Given the description of an element on the screen output the (x, y) to click on. 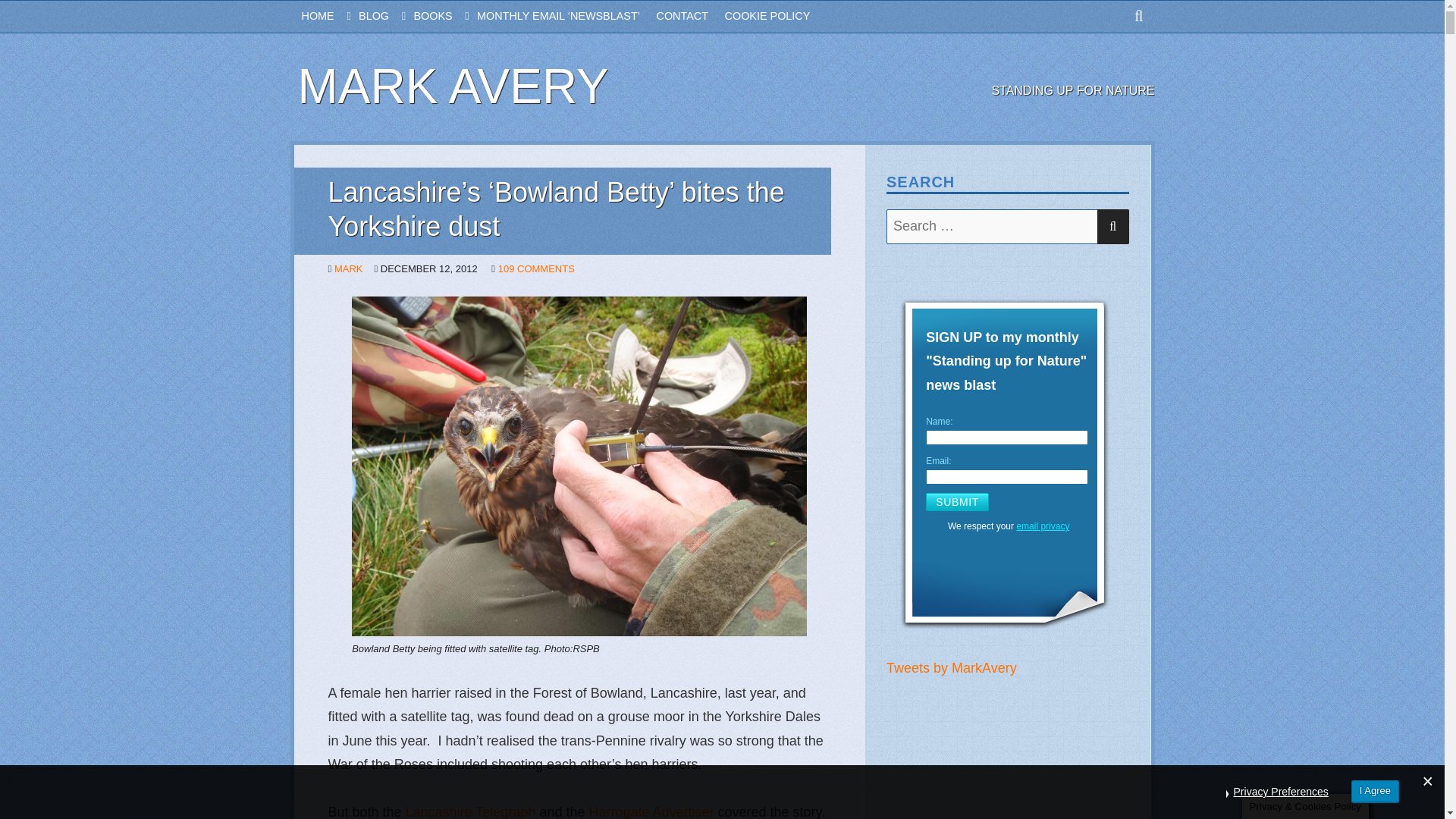
COOKIE POLICY (776, 16)
Privacy Policy (1042, 525)
Submit (957, 502)
CONTACT (689, 16)
HOME (330, 16)
BOOKS (445, 16)
BLOG (385, 16)
MARK AVERY (452, 85)
